Given the description of an element on the screen output the (x, y) to click on. 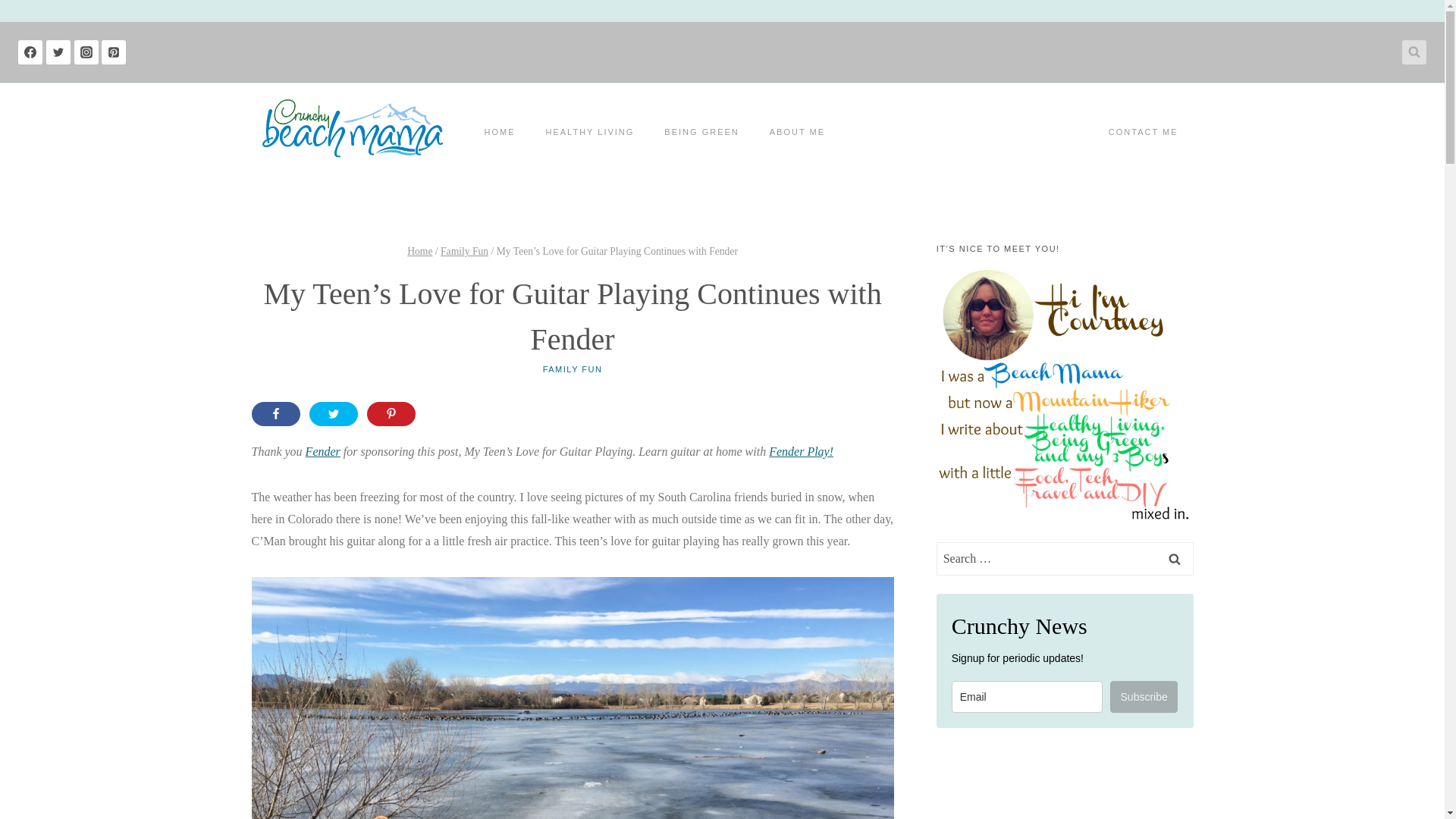
Share on Facebook (275, 413)
Share on Twitter (333, 413)
Share on Pinterest (390, 413)
Search (1174, 558)
HEALTHY LIVING (590, 131)
BEING GREEN (701, 131)
Family Fun (464, 251)
CONTACT ME (1143, 131)
FAMILY FUN (572, 368)
Subscribe (1143, 696)
Home (419, 251)
Search (1174, 558)
Search (1174, 558)
ABOUT ME (797, 131)
HOME (498, 131)
